Given the description of an element on the screen output the (x, y) to click on. 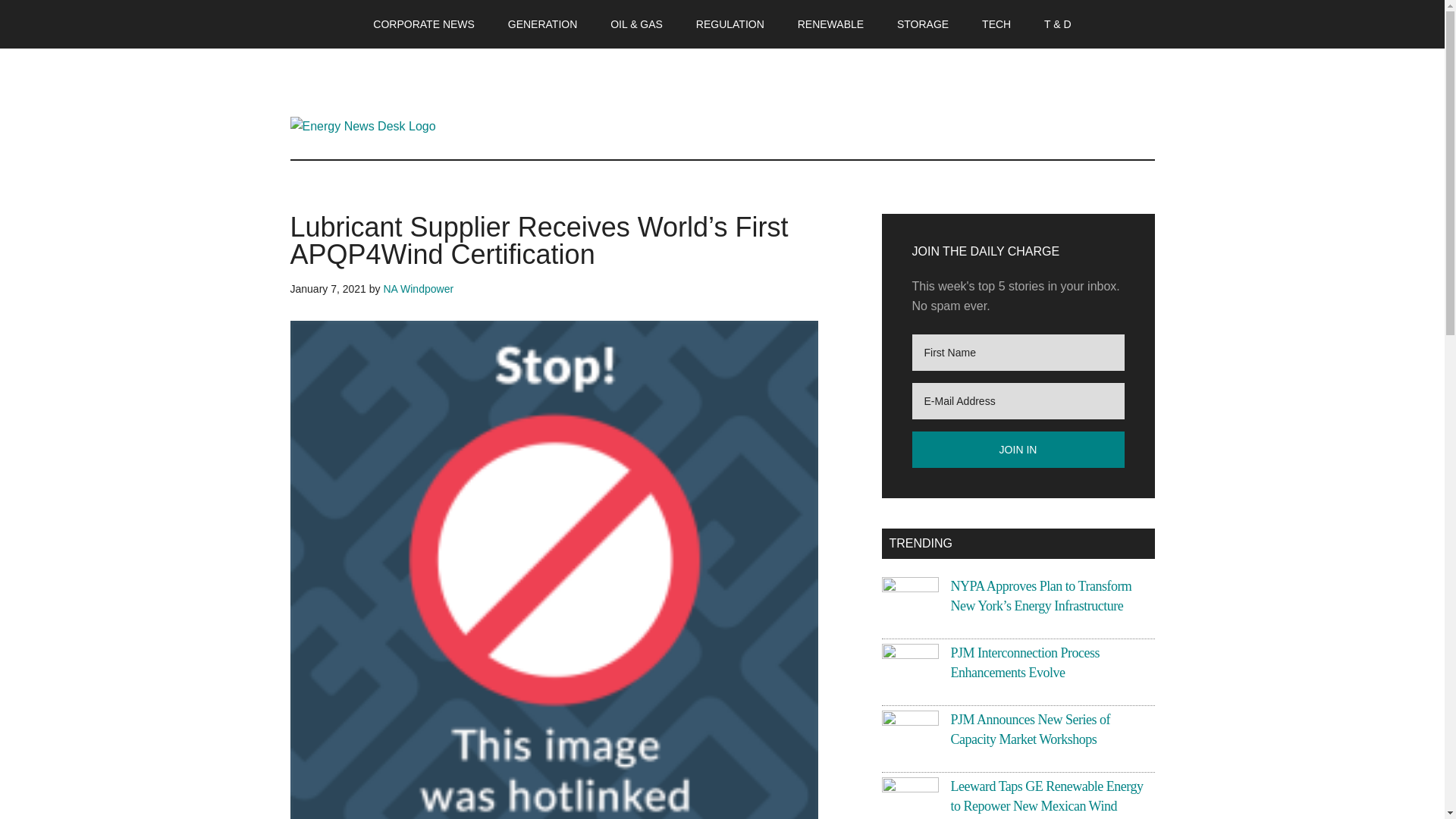
RENEWABLE (831, 24)
GENERATION (542, 24)
PJM Interconnection Process Enhancements Evolve (1024, 662)
STORAGE (922, 24)
TECH (996, 24)
PJM Announces New Series of Capacity Market Workshops (1029, 728)
Join In (1017, 449)
CORPORATE NEWS (423, 24)
NA Windpower (417, 288)
